Given the description of an element on the screen output the (x, y) to click on. 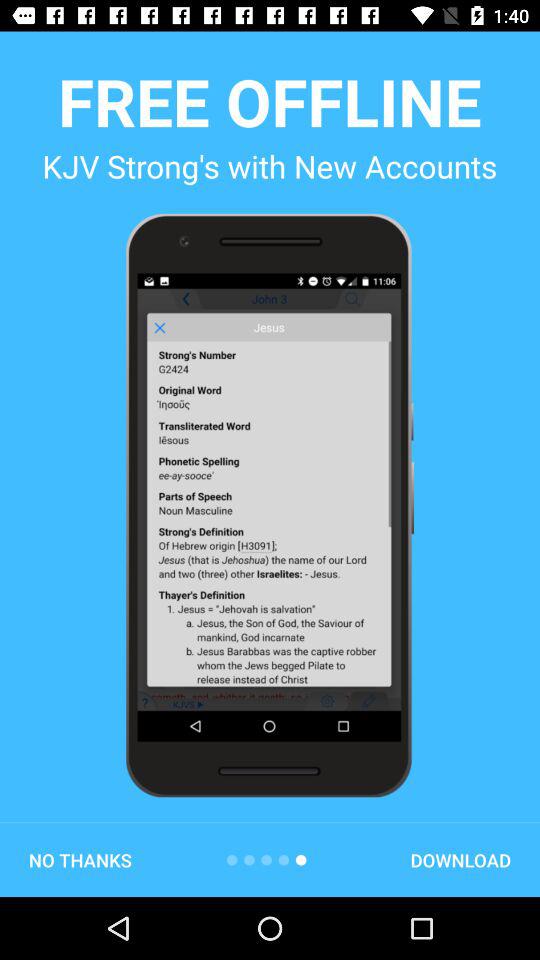
turn off download (460, 859)
